Given the description of an element on the screen output the (x, y) to click on. 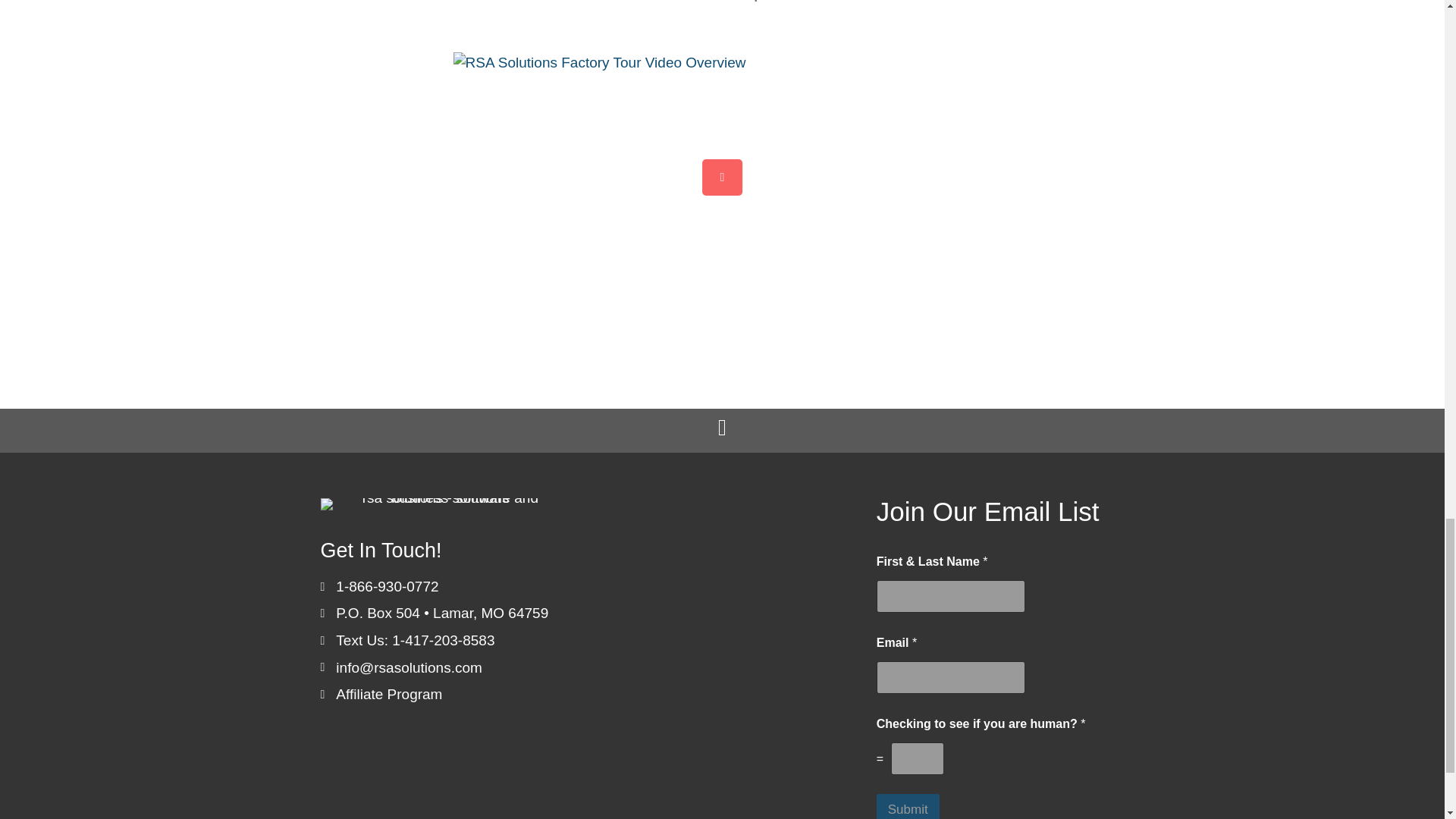
Text Us: 1-417-203-8583 (415, 640)
Submit (907, 806)
Affiliate Program (389, 694)
1-866-930-0772 (387, 586)
